Given the description of an element on the screen output the (x, y) to click on. 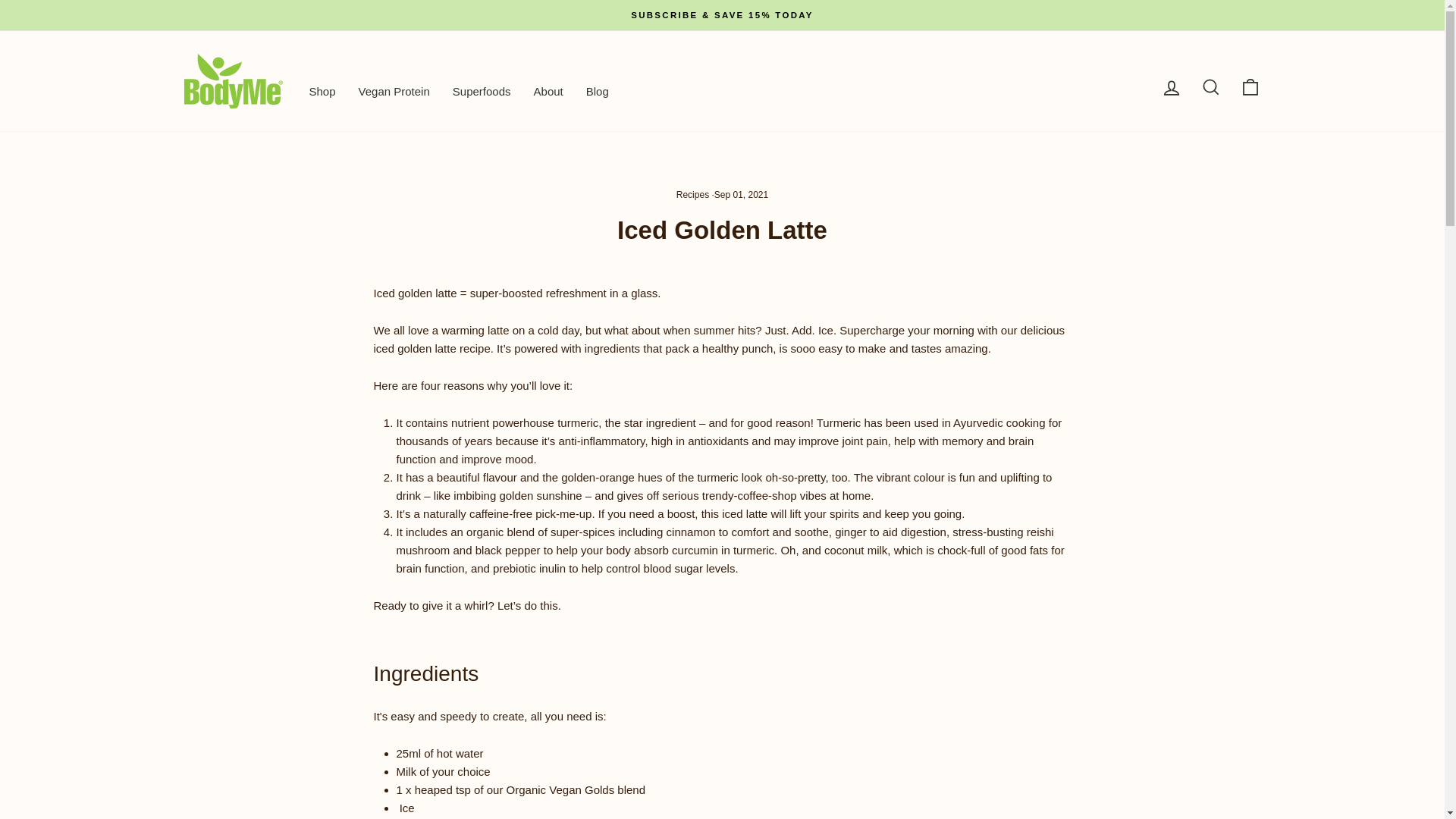
Vegan Protein (394, 91)
Shop (321, 91)
